Given the description of an element on the screen output the (x, y) to click on. 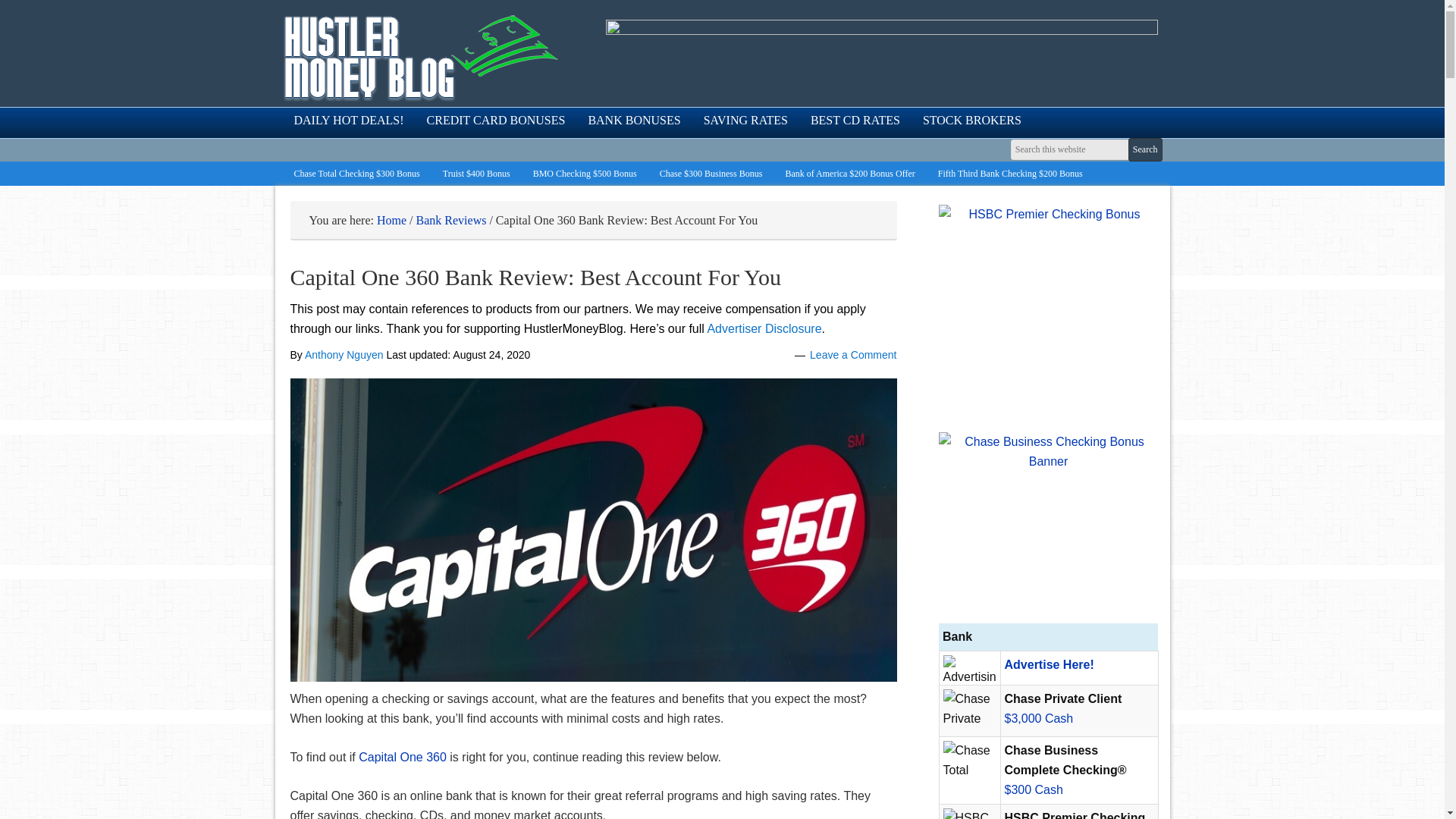
Search (1144, 149)
Hustler Money Blog (419, 57)
DAILY HOT DEALS! (348, 120)
SAVING RATES (746, 120)
Search (1144, 149)
BEST CD RATES (855, 120)
STOCK BROKERS (971, 120)
CREDIT CARD BONUSES (495, 120)
BANK BONUSES (633, 120)
Search (1144, 149)
